Given the description of an element on the screen output the (x, y) to click on. 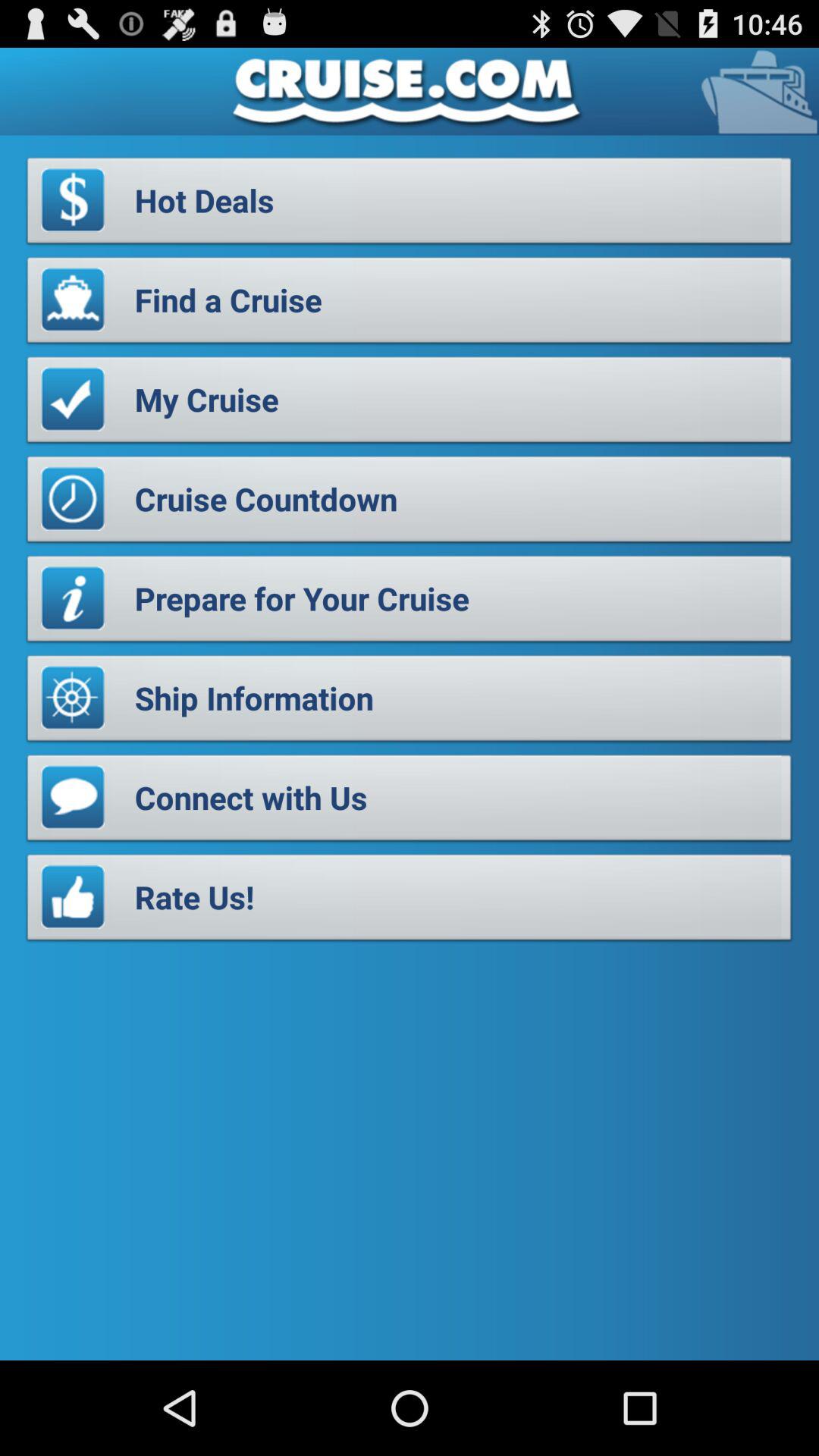
turn on button below the my cruise item (409, 503)
